Given the description of an element on the screen output the (x, y) to click on. 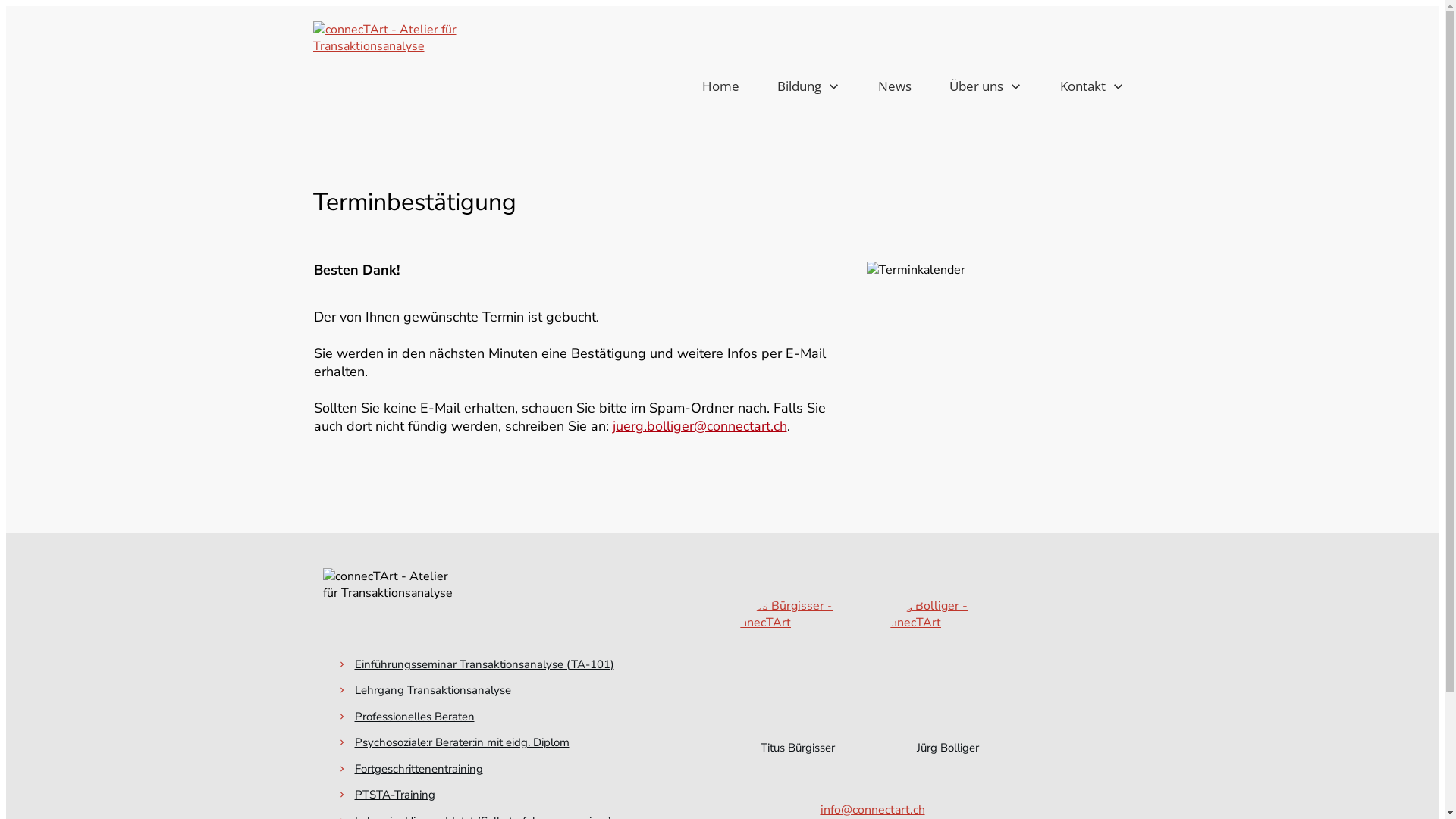
Lehrgang Transaktionsanalyse Element type: text (432, 689)
Professionelles Beraten Element type: text (414, 716)
Fortgeschrittenentraining Element type: text (418, 768)
Kontakt Element type: text (1092, 86)
info@connectart.ch Element type: text (872, 809)
juerg.bolliger@connectart.ch Element type: text (699, 426)
Psychosoziale:r Berater:in mit eidg. Diplom Element type: text (461, 741)
News Element type: text (894, 86)
Terminkalender Element type: hover (999, 361)
PTSTA-Training Element type: text (394, 794)
Bildung Element type: text (807, 86)
Home Element type: text (720, 86)
